Given the description of an element on the screen output the (x, y) to click on. 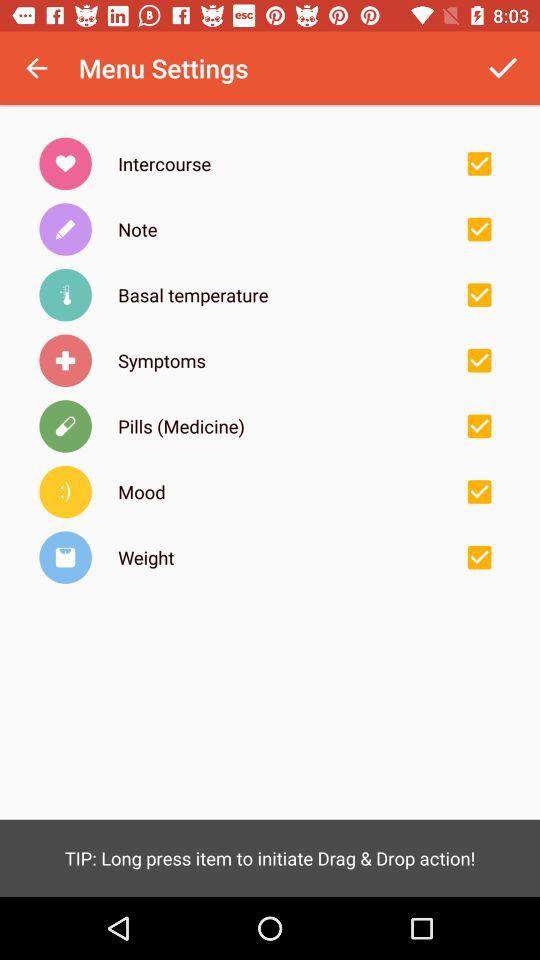
toggle note menu settings option (479, 229)
